Given the description of an element on the screen output the (x, y) to click on. 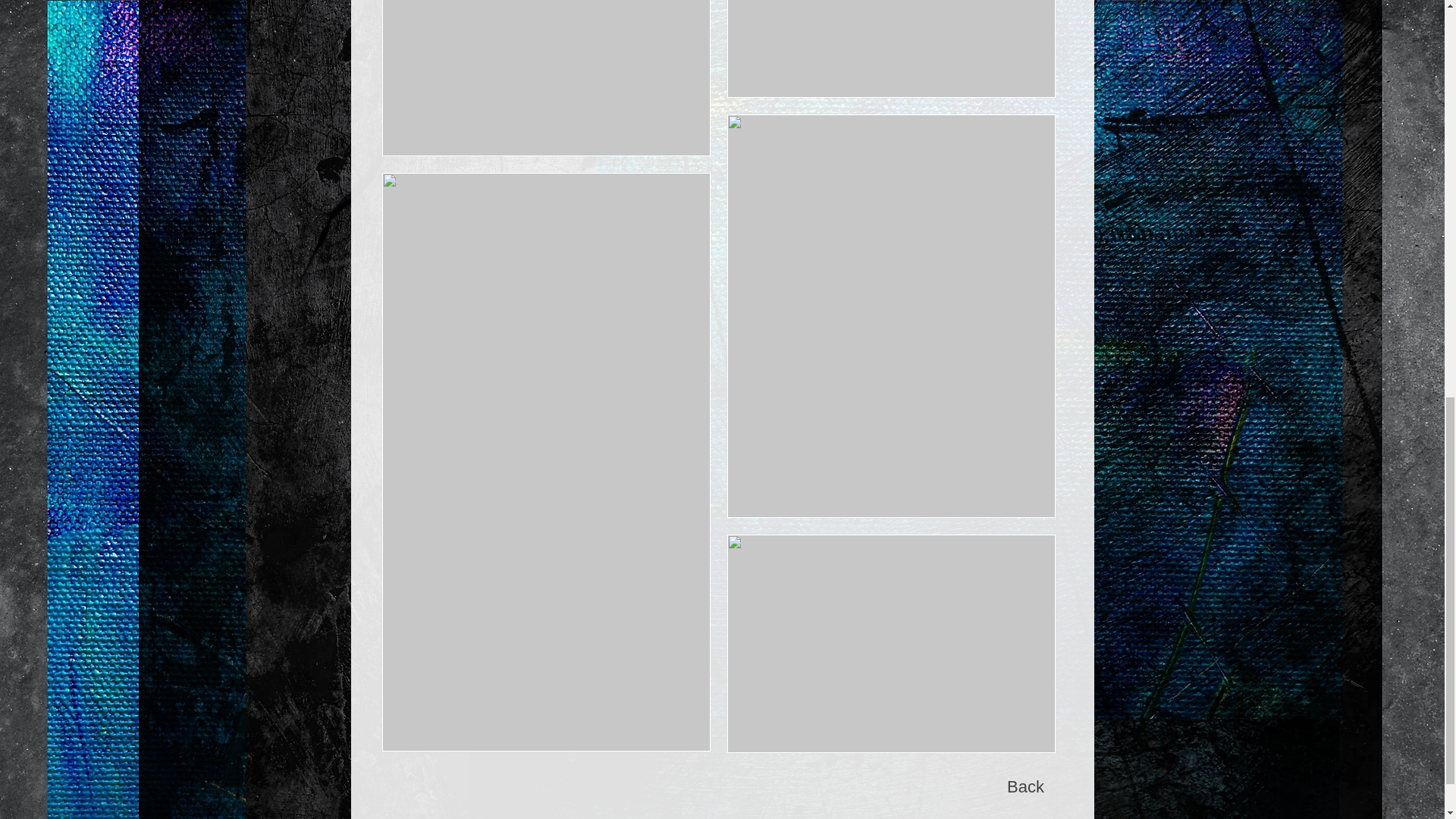
Back (1024, 786)
